Given the description of an element on the screen output the (x, y) to click on. 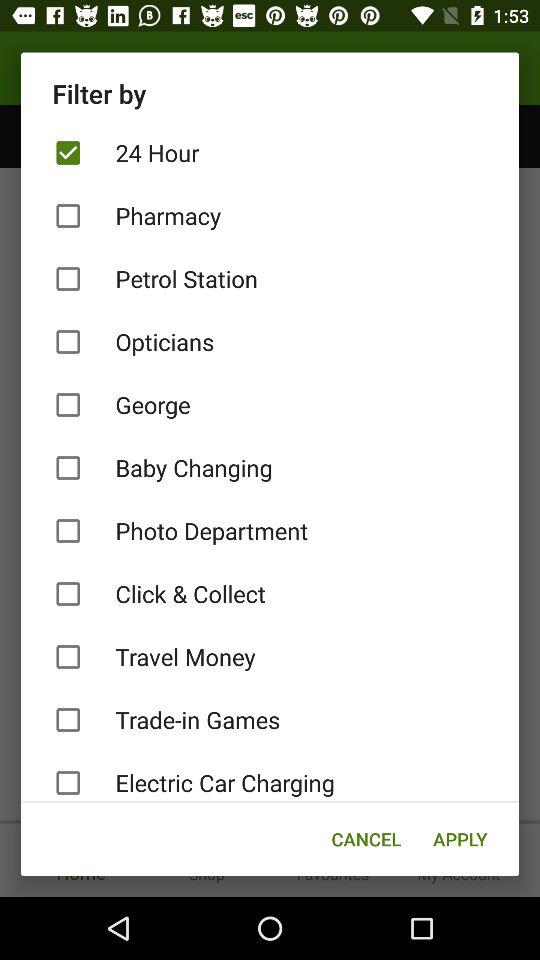
choose item below the opticians icon (270, 404)
